Given the description of an element on the screen output the (x, y) to click on. 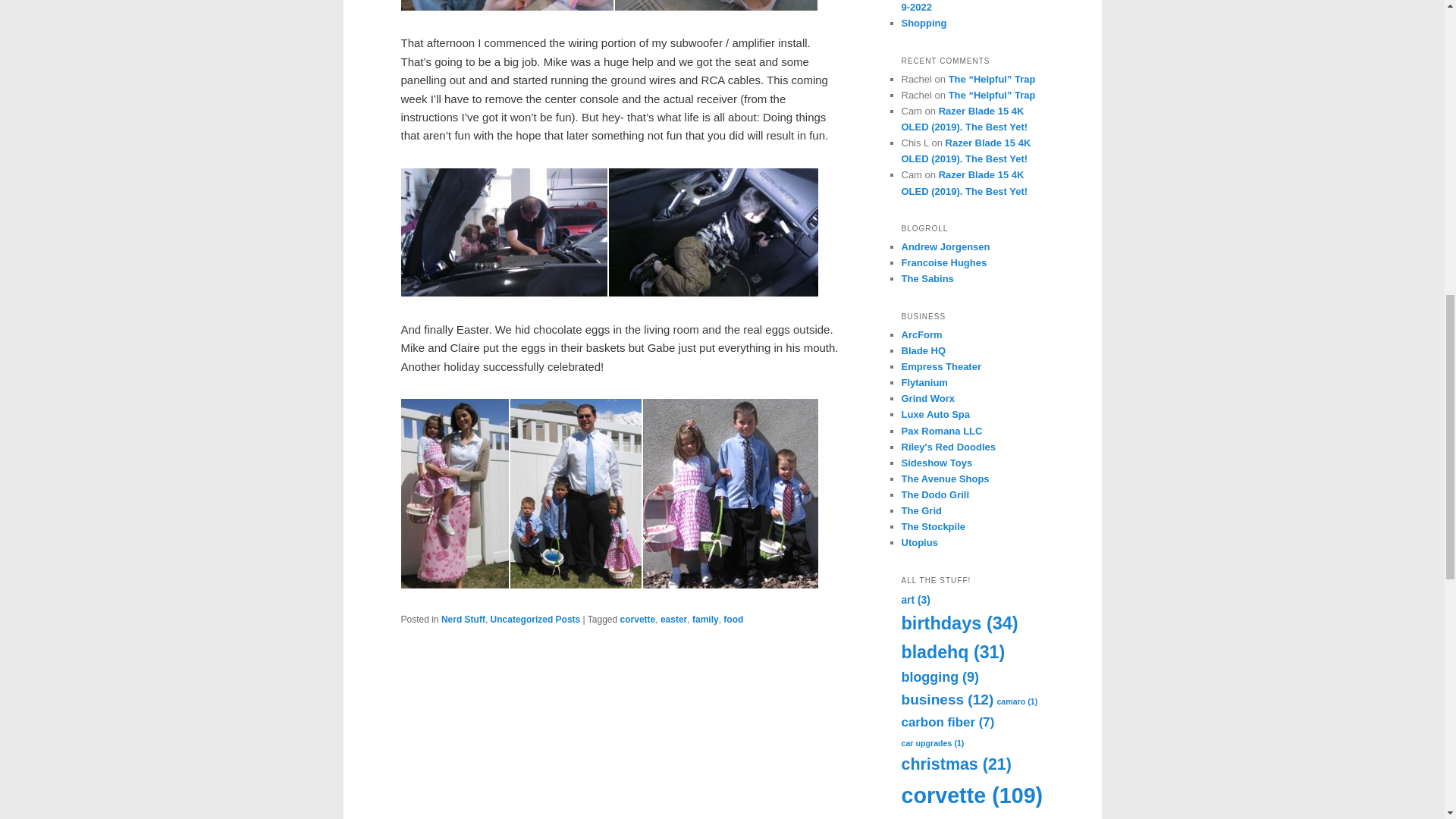
Empress Theater (941, 366)
food (732, 619)
Indian Ocean Cuisine!  (935, 494)
Nerd Stuff (462, 619)
New Engine Documentation 5-9-2022 (971, 6)
family (706, 619)
Flytanium (924, 382)
Blade HQ (922, 350)
Shopping (923, 22)
There is no such thing as fast enough.  (933, 526)
Andrew Jorgensen (945, 246)
Epic Go-Cart Racing (920, 510)
Uncategorized Posts (535, 619)
Francoise Hughes (944, 262)
Grind Worx (928, 398)
